Given the description of an element on the screen output the (x, y) to click on. 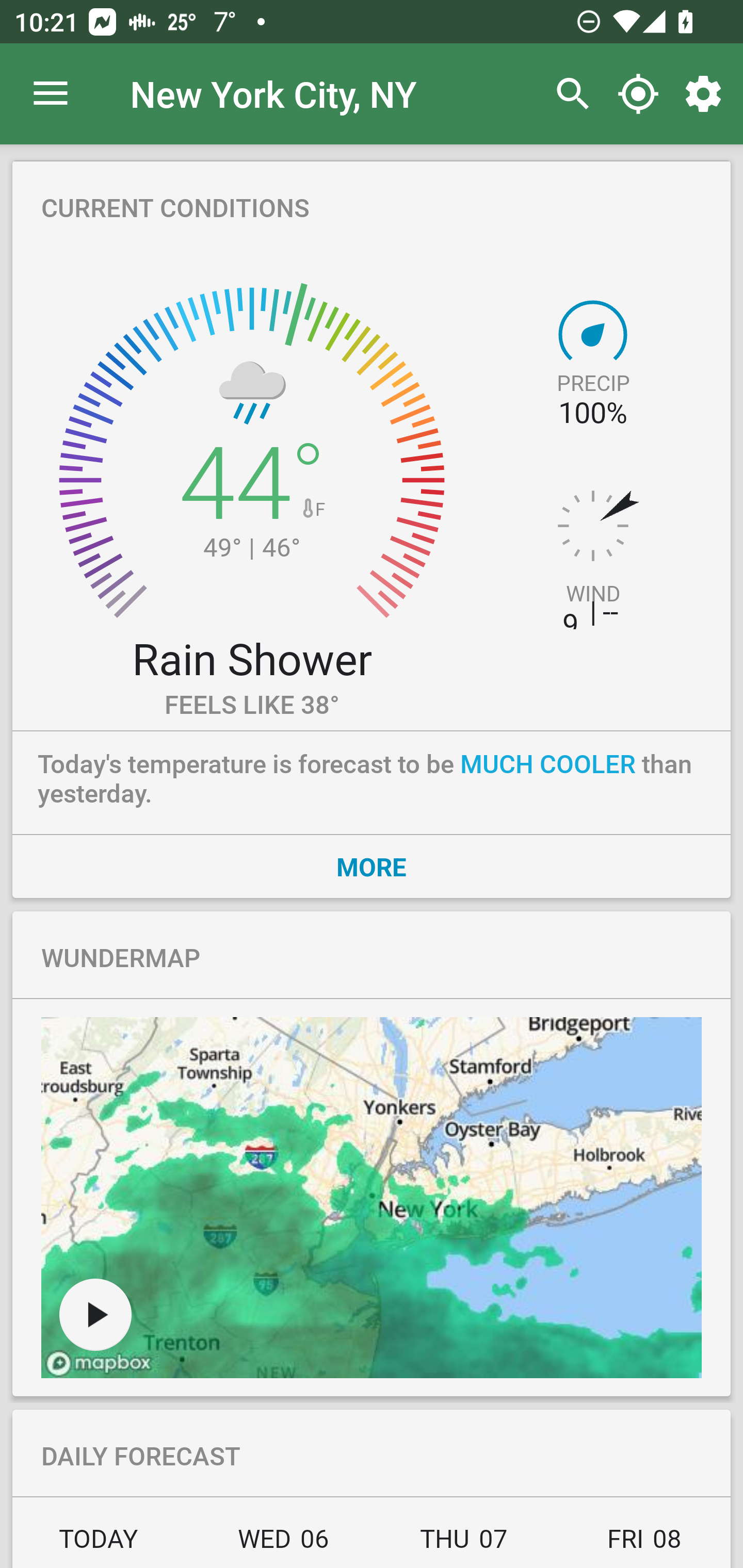
Press to open location manager. (50, 93)
Search for location (567, 94)
Select GPS location (637, 94)
Settings (706, 94)
New York City, NY (273, 92)
100% (592, 412)
Rain Shower (251, 657)
MORE (371, 865)
Weather Map (371, 1197)
Weather Map (95, 1314)
TODAY (102, 1544)
WED 06 (283, 1544)
THU 07 (463, 1544)
FRI 08 (642, 1544)
